Given the description of an element on the screen output the (x, y) to click on. 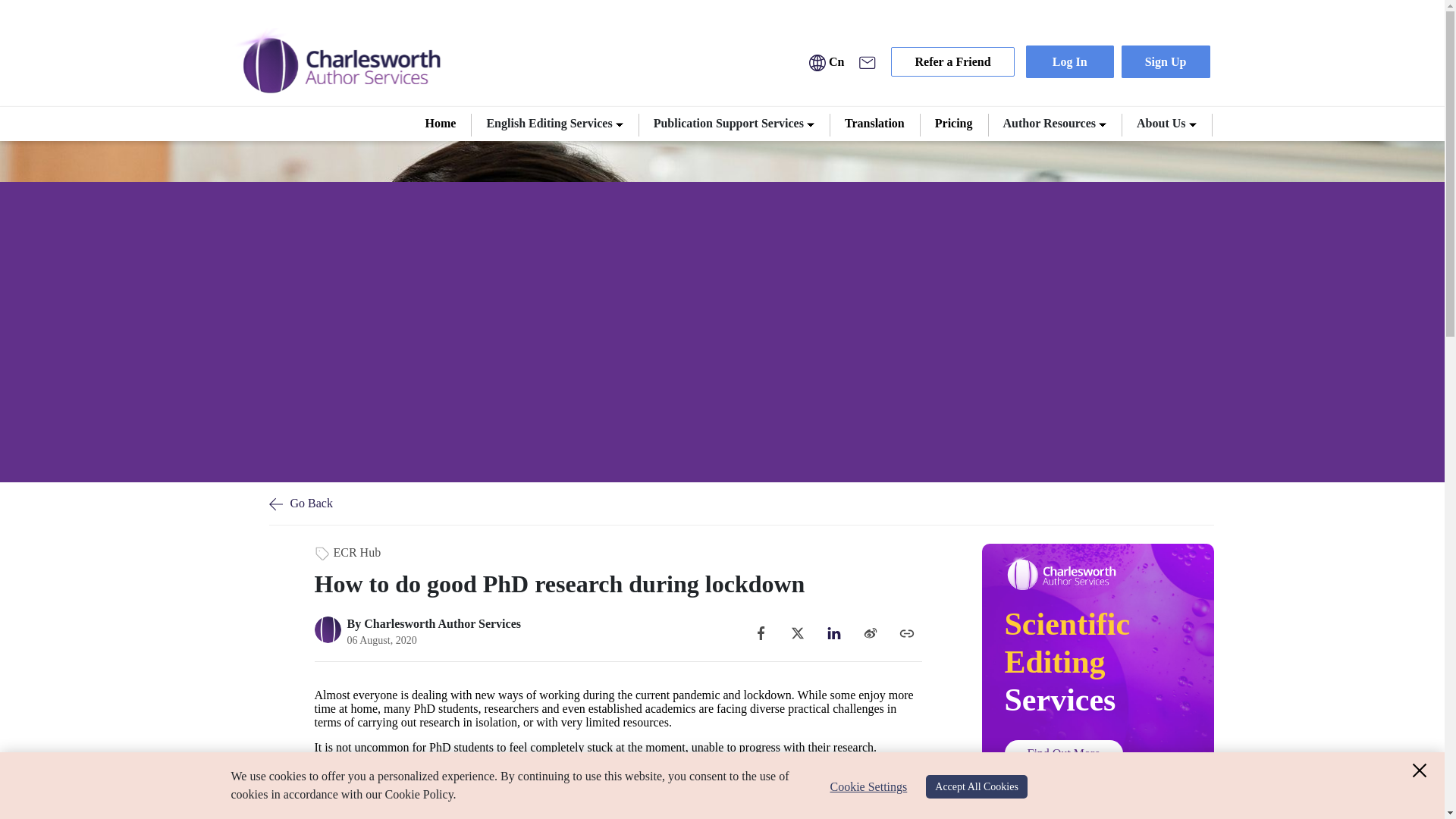
Find Out More (1063, 753)
Log In (1070, 61)
Translation (874, 123)
Cn (826, 61)
Pricing (954, 123)
Refer a Friend (952, 61)
Find Out More (1063, 753)
Sign Up (1166, 61)
Home (440, 123)
